Given the description of an element on the screen output the (x, y) to click on. 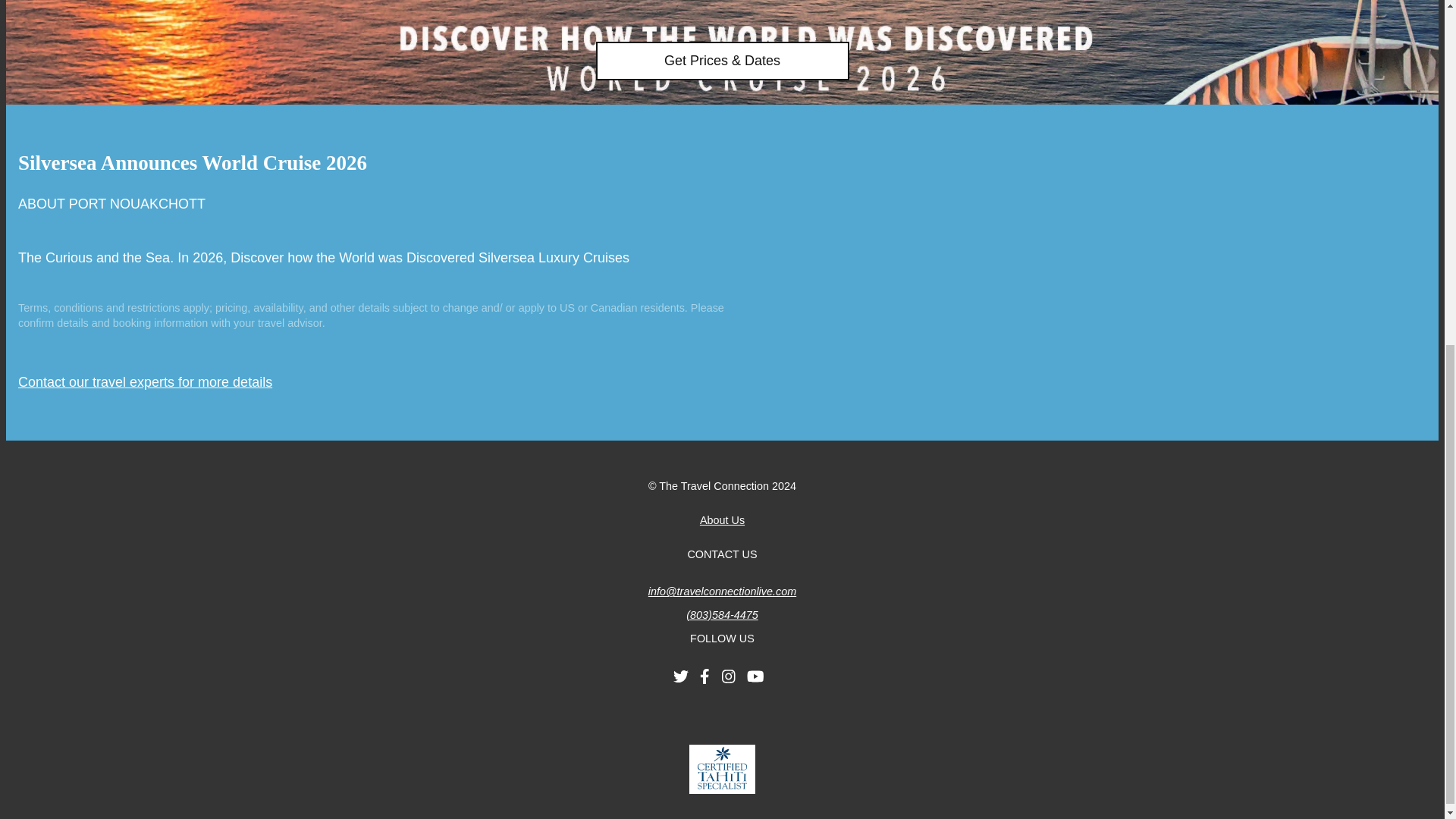
Contact our travel experts for more details (144, 381)
About Us (722, 520)
